Given the description of an element on the screen output the (x, y) to click on. 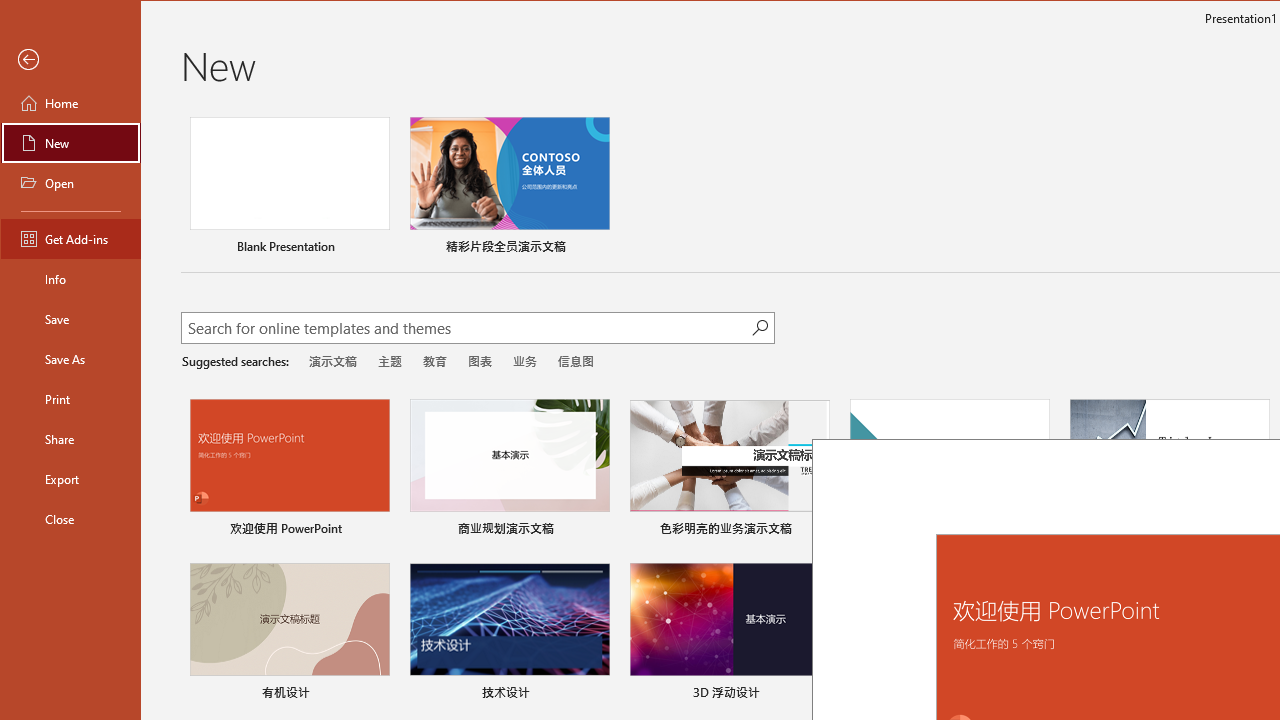
Get Add-ins (70, 238)
New (70, 142)
Info (70, 278)
Save As (70, 358)
Open (70, 182)
Back (70, 60)
Start searching (760, 327)
